Given the description of an element on the screen output the (x, y) to click on. 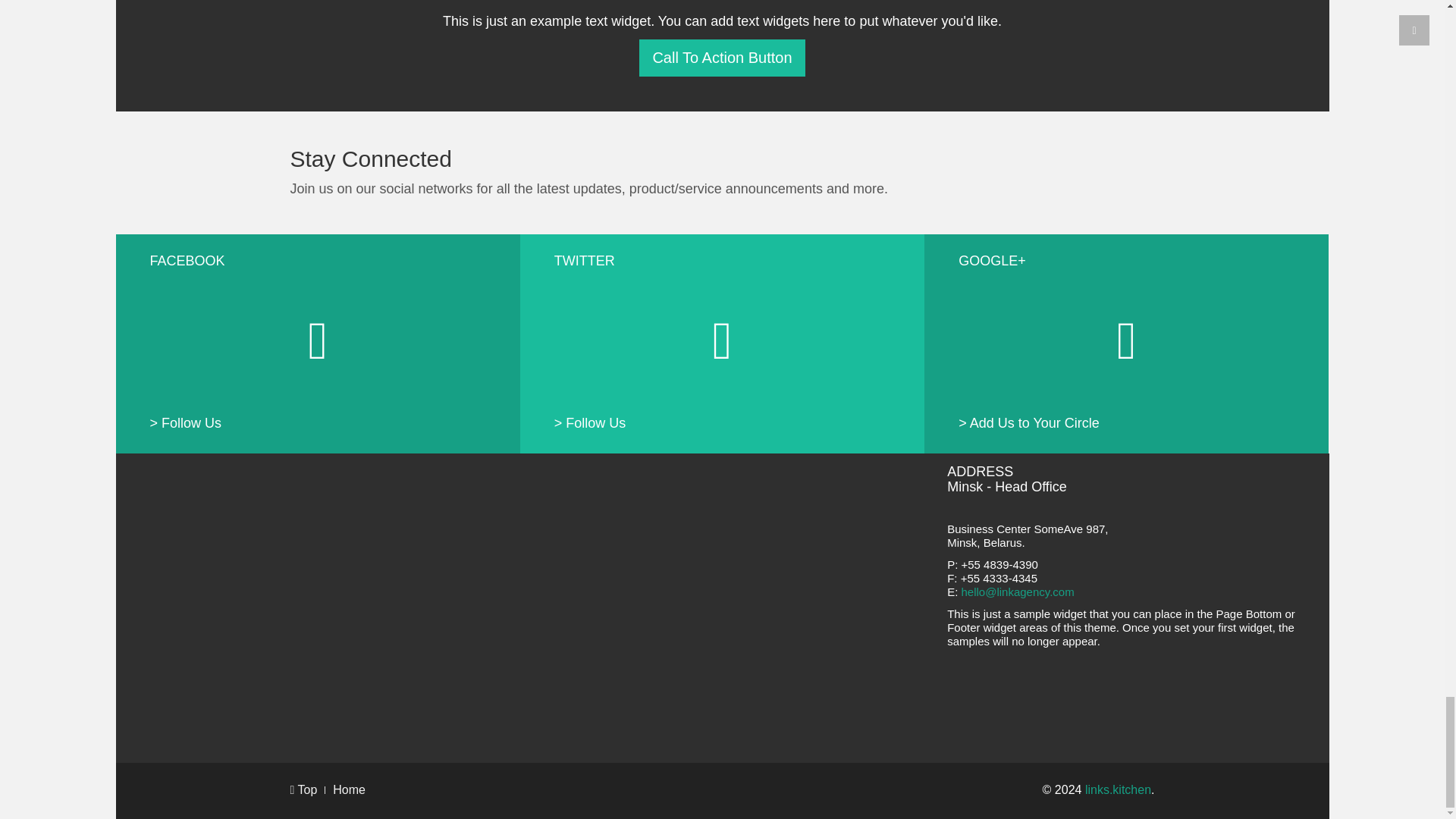
Home (349, 789)
Top (303, 789)
Back to top of page (303, 789)
